Given the description of an element on the screen output the (x, y) to click on. 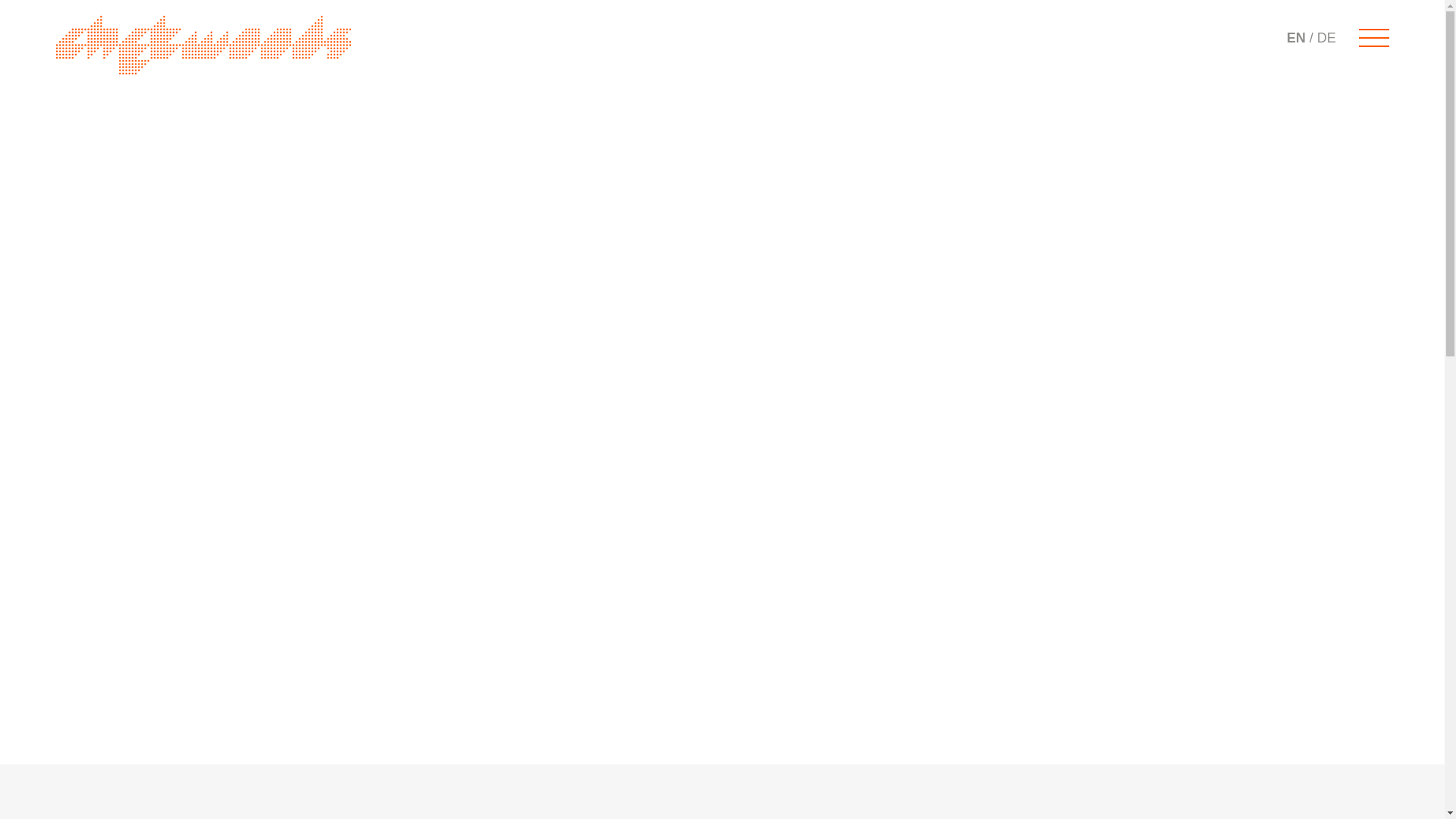
DE (1326, 37)
EN (1296, 37)
